Given the description of an element on the screen output the (x, y) to click on. 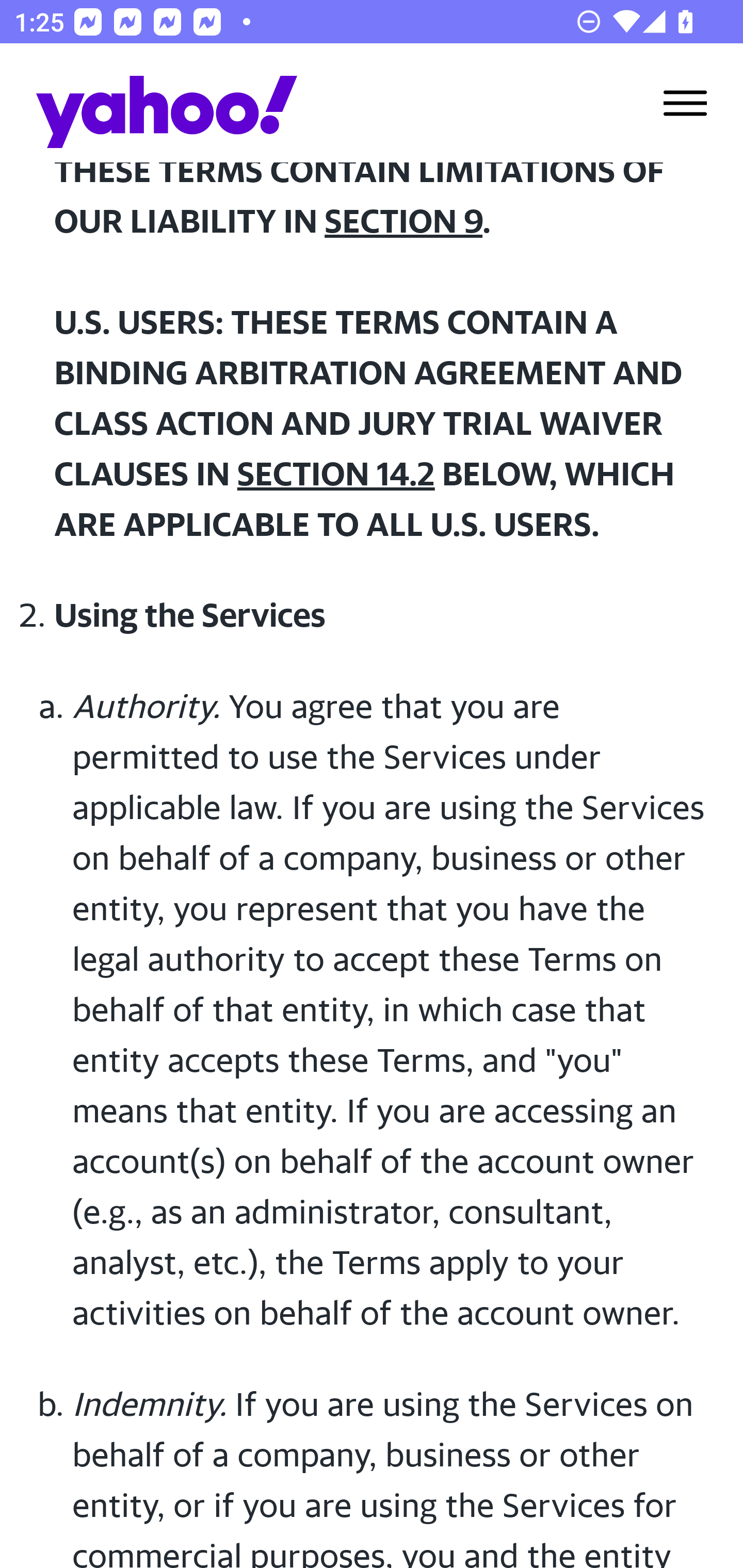
SECTION 9 (403, 220)
SECTION 14.2 (335, 473)
